Given the description of an element on the screen output the (x, y) to click on. 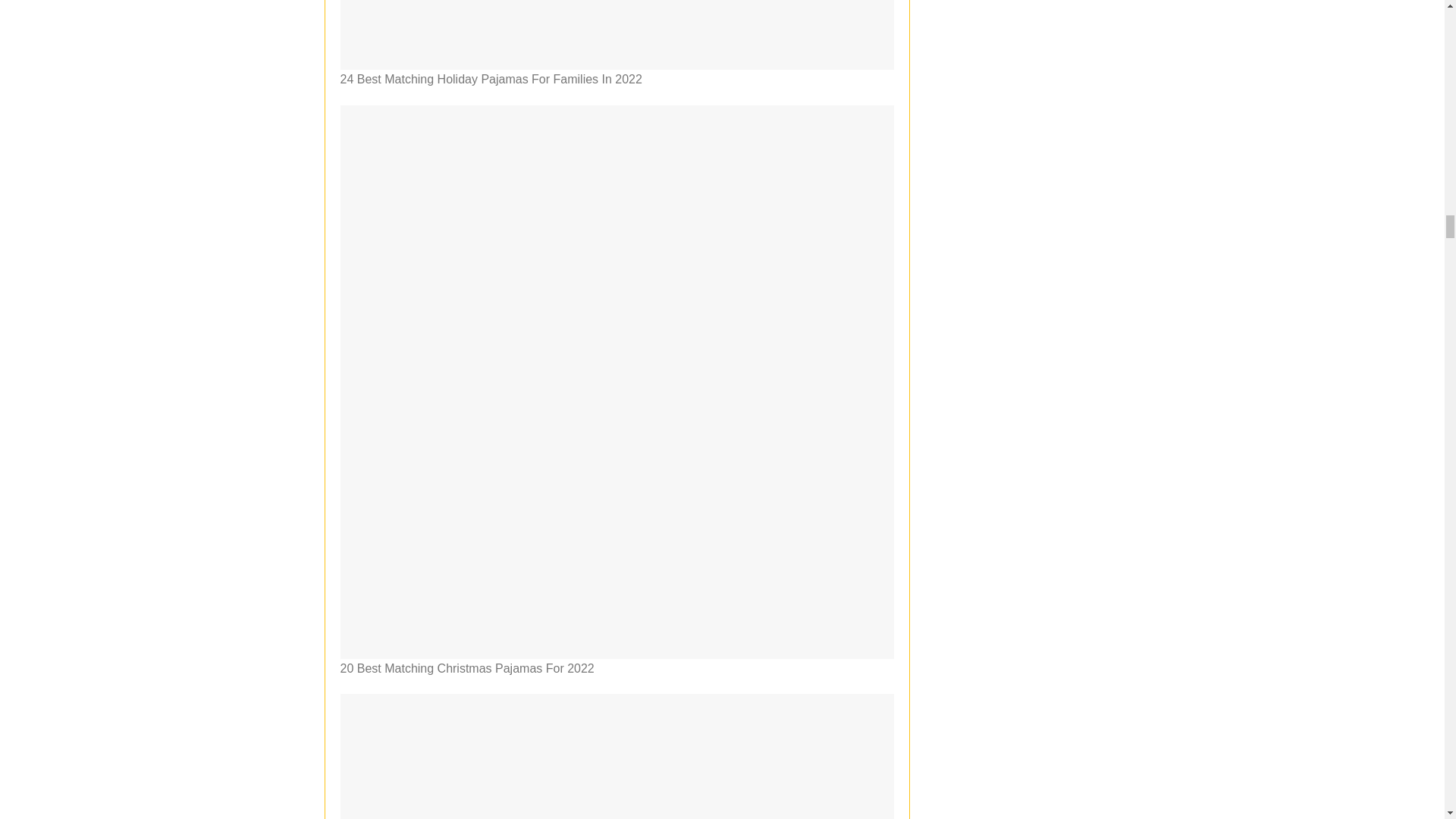
24 best matching holiday pajamas for families in 2022 (616, 35)
